Given the description of an element on the screen output the (x, y) to click on. 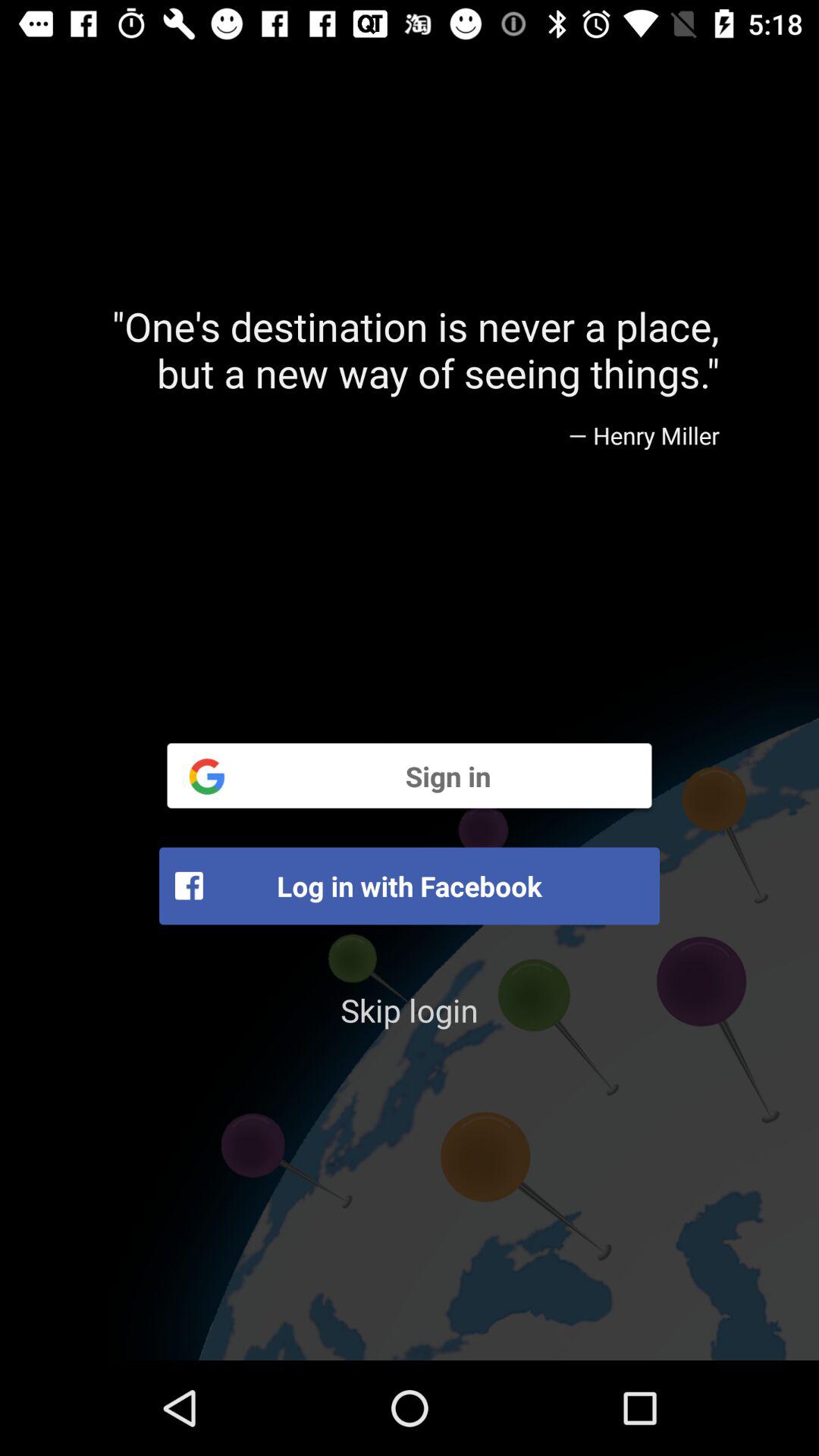
click the icon above the log in with icon (409, 775)
